Given the description of an element on the screen output the (x, y) to click on. 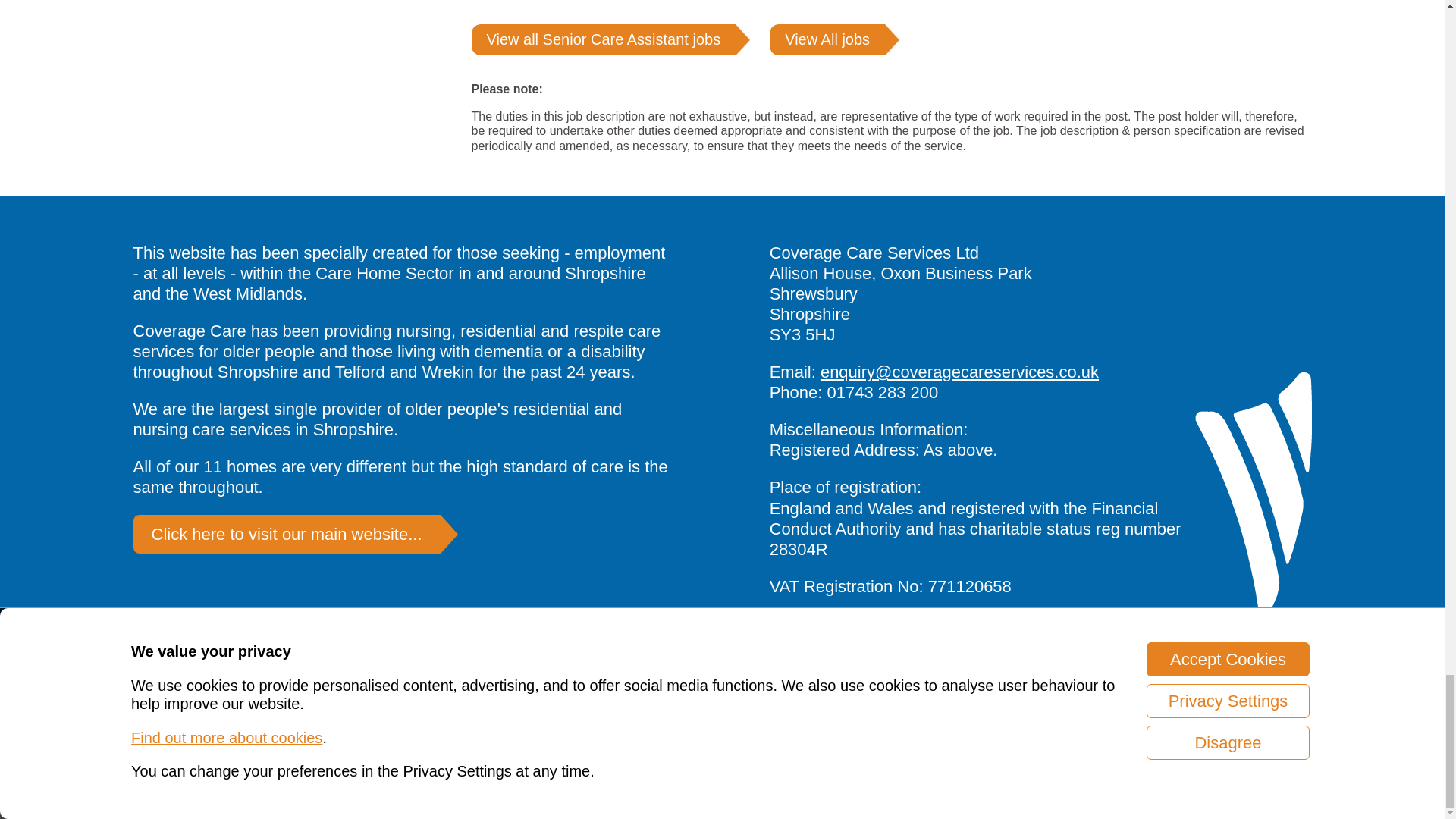
View all Senior Care Assistant jobs (603, 39)
Website Development by Clickingmad (1238, 795)
View All jobs (827, 39)
